Given the description of an element on the screen output the (x, y) to click on. 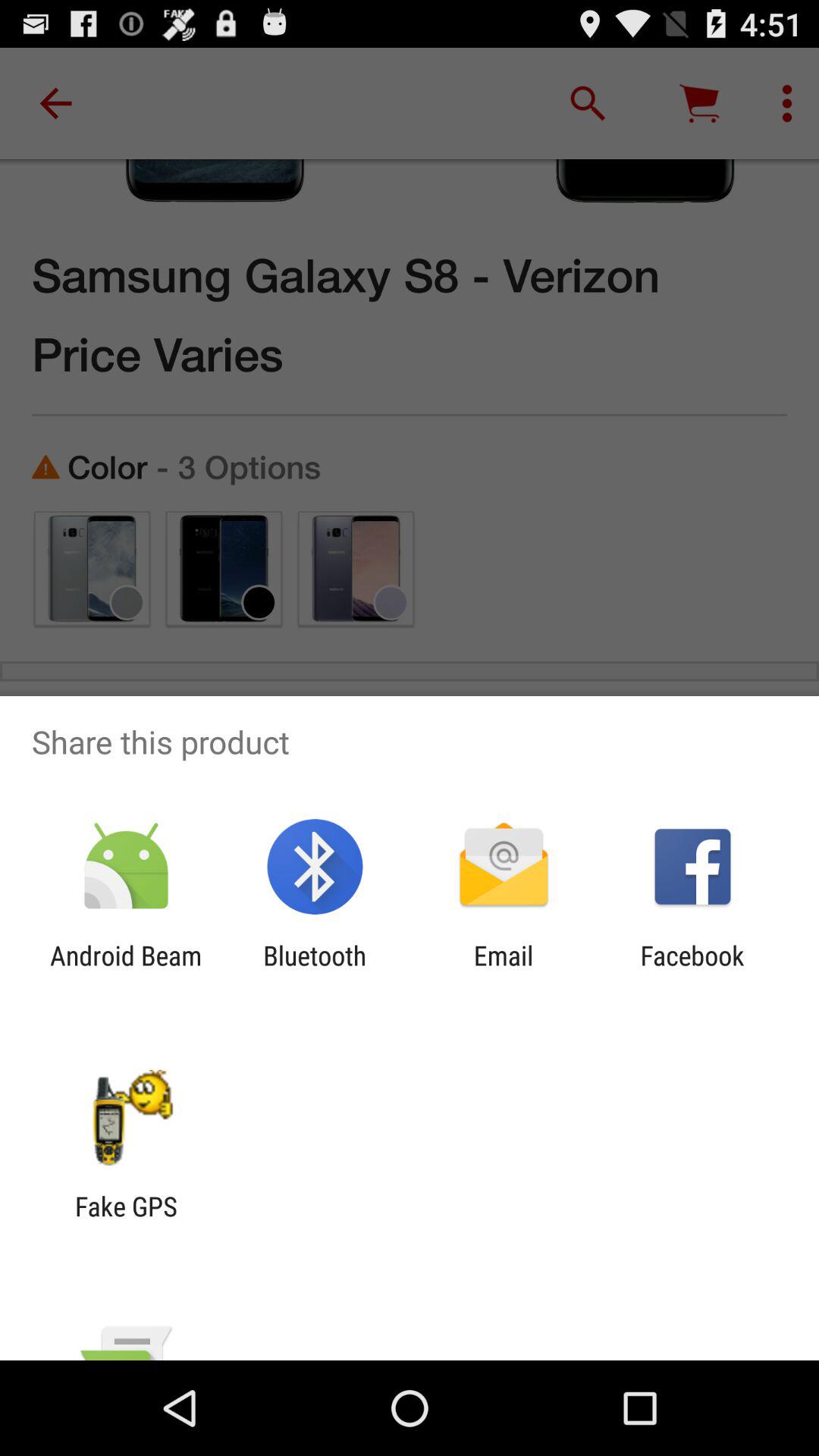
jump to fake gps (126, 1221)
